Given the description of an element on the screen output the (x, y) to click on. 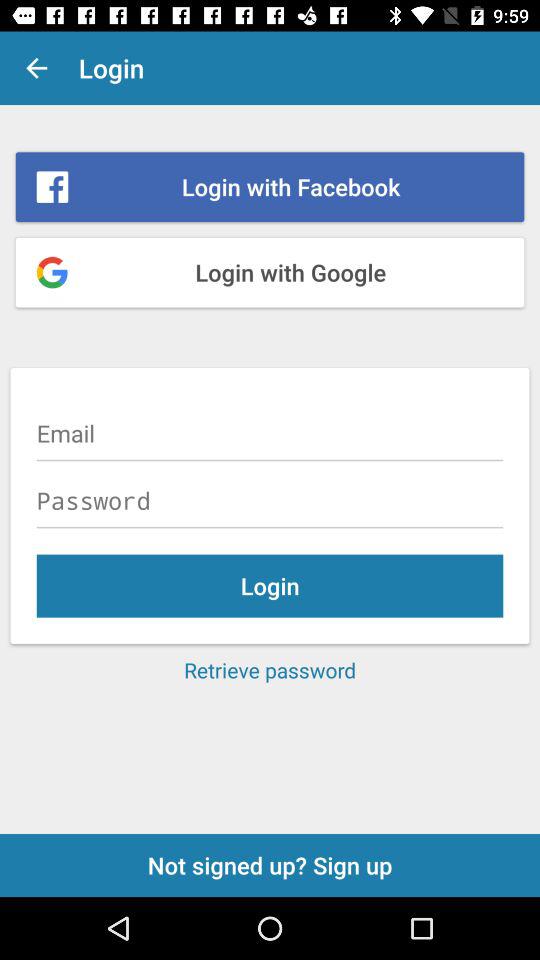
enter mail address (269, 433)
